Given the description of an element on the screen output the (x, y) to click on. 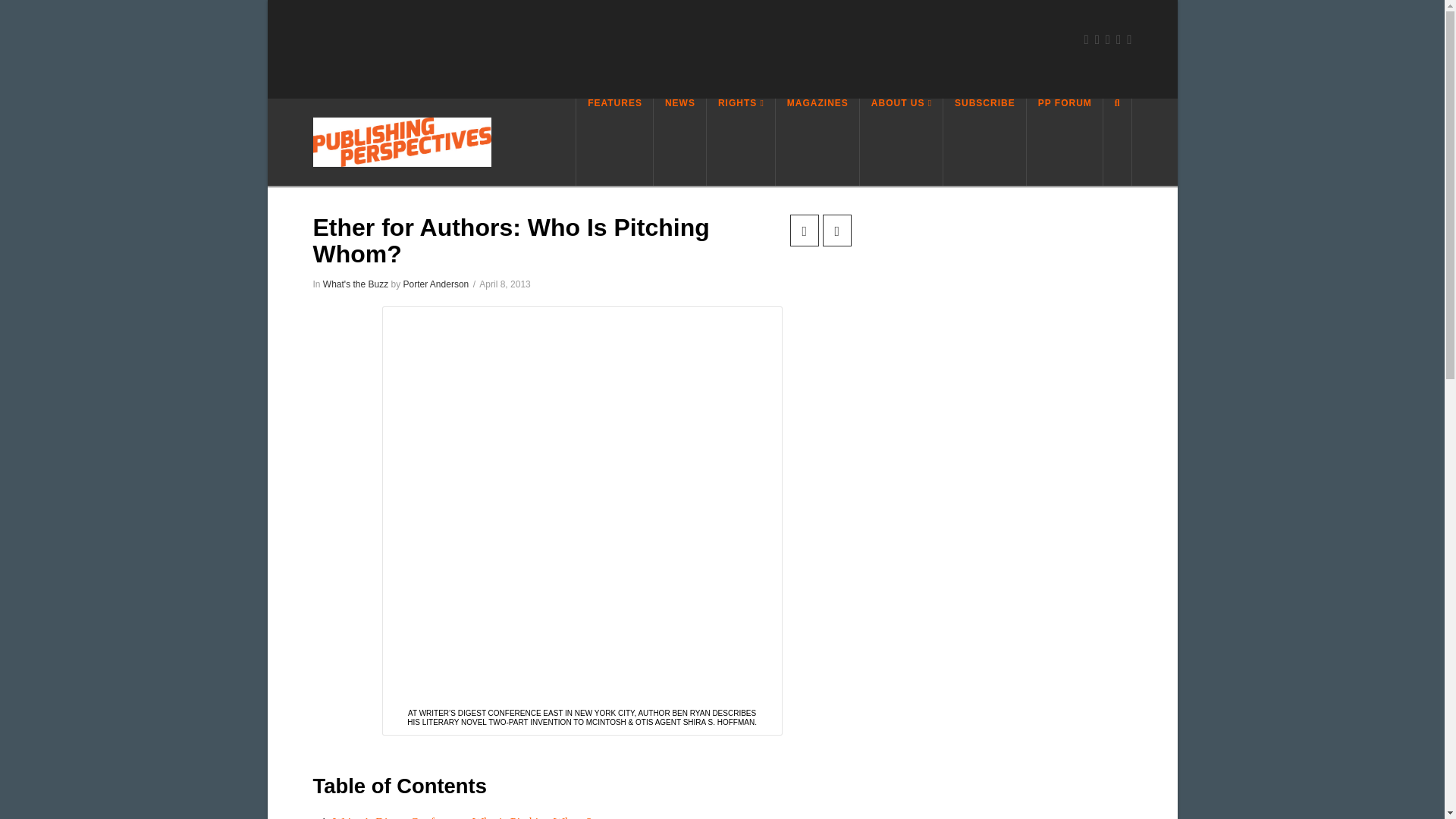
ABOUT US (901, 141)
Porter Anderson (435, 284)
MAGAZINES (818, 141)
SUBSCRIBE (984, 141)
FEATURES (614, 141)
What's the Buzz (355, 284)
